Given the description of an element on the screen output the (x, y) to click on. 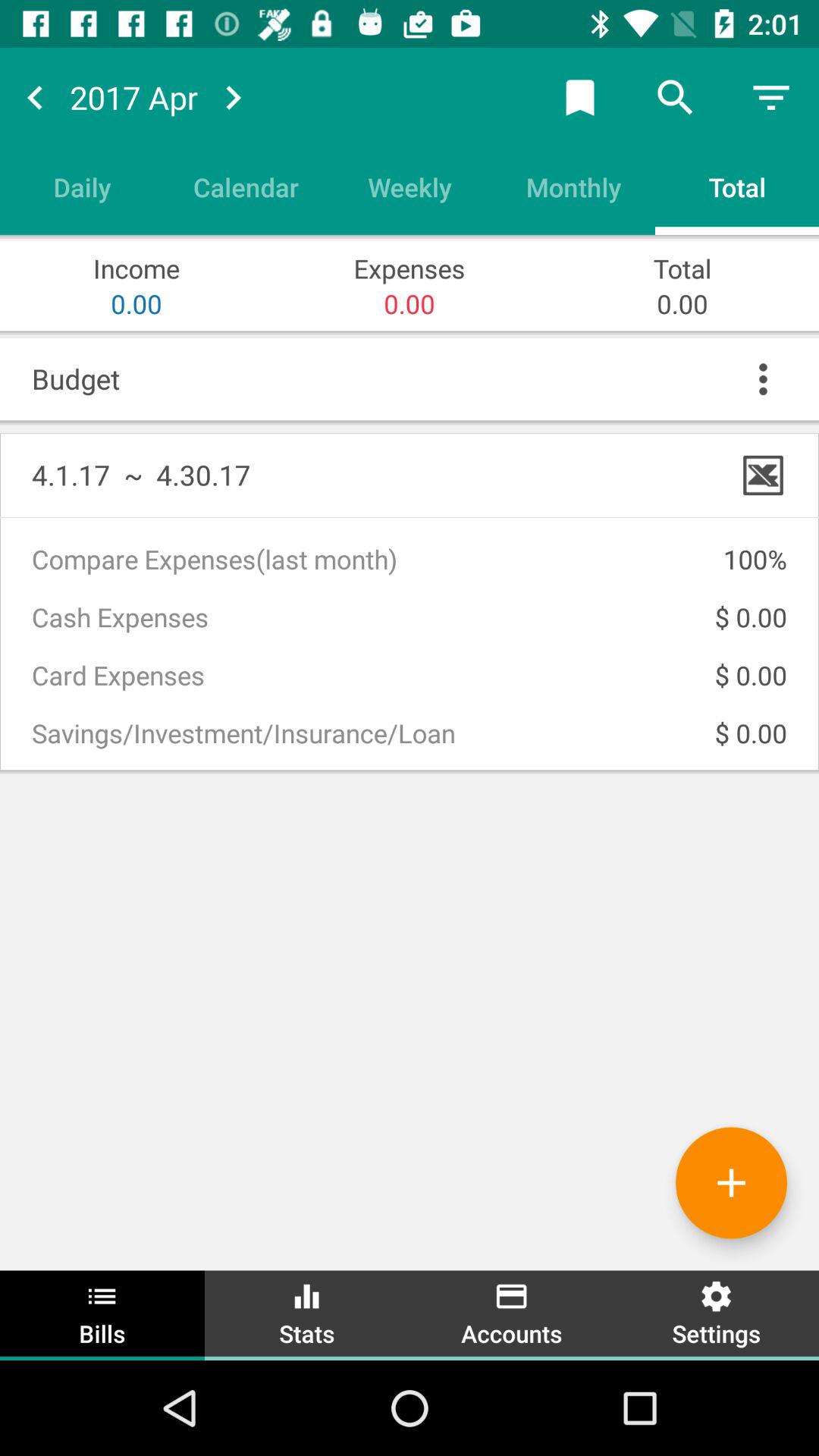
microsoft excel (763, 474)
